Given the description of an element on the screen output the (x, y) to click on. 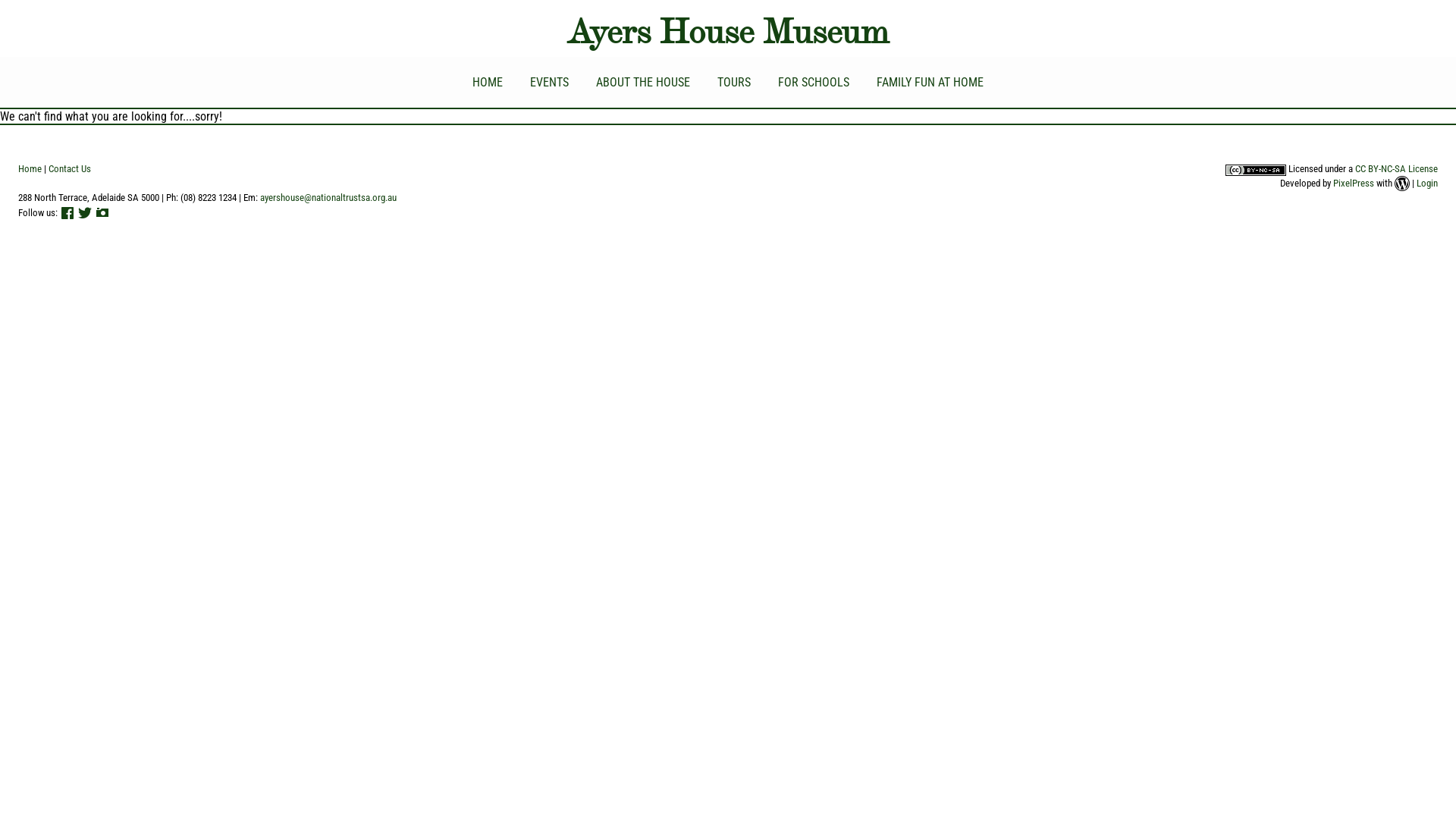
PixelPress Element type: text (1353, 182)
Login Element type: text (1426, 182)
Contact Us Element type: text (69, 168)
HOME Element type: text (487, 82)
Home Element type: text (29, 168)
CC BY-NC-SA License Element type: text (1396, 168)
FAMILY FUN AT HOME Element type: text (929, 82)
EVENTS Element type: text (549, 82)
FOR SCHOOLS Element type: text (813, 82)
ayershouse@nationaltrustsa.org.au Element type: text (328, 197)
ABOUT THE HOUSE Element type: text (643, 82)
TOURS Element type: text (733, 82)
